Given the description of an element on the screen output the (x, y) to click on. 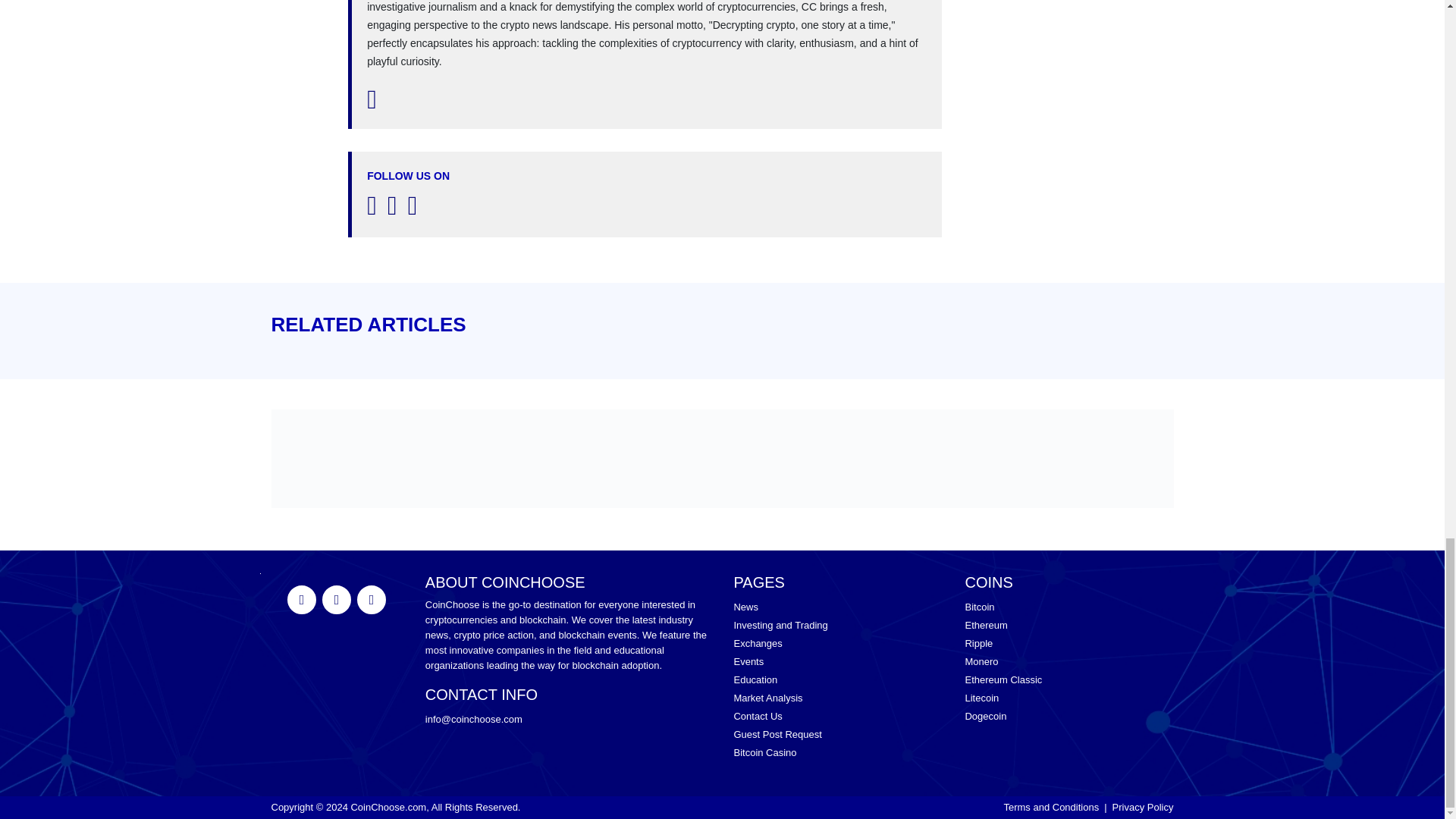
CoinChoose (388, 807)
LinkedIn (335, 599)
Facebook (370, 599)
Twitter (300, 599)
